Given the description of an element on the screen output the (x, y) to click on. 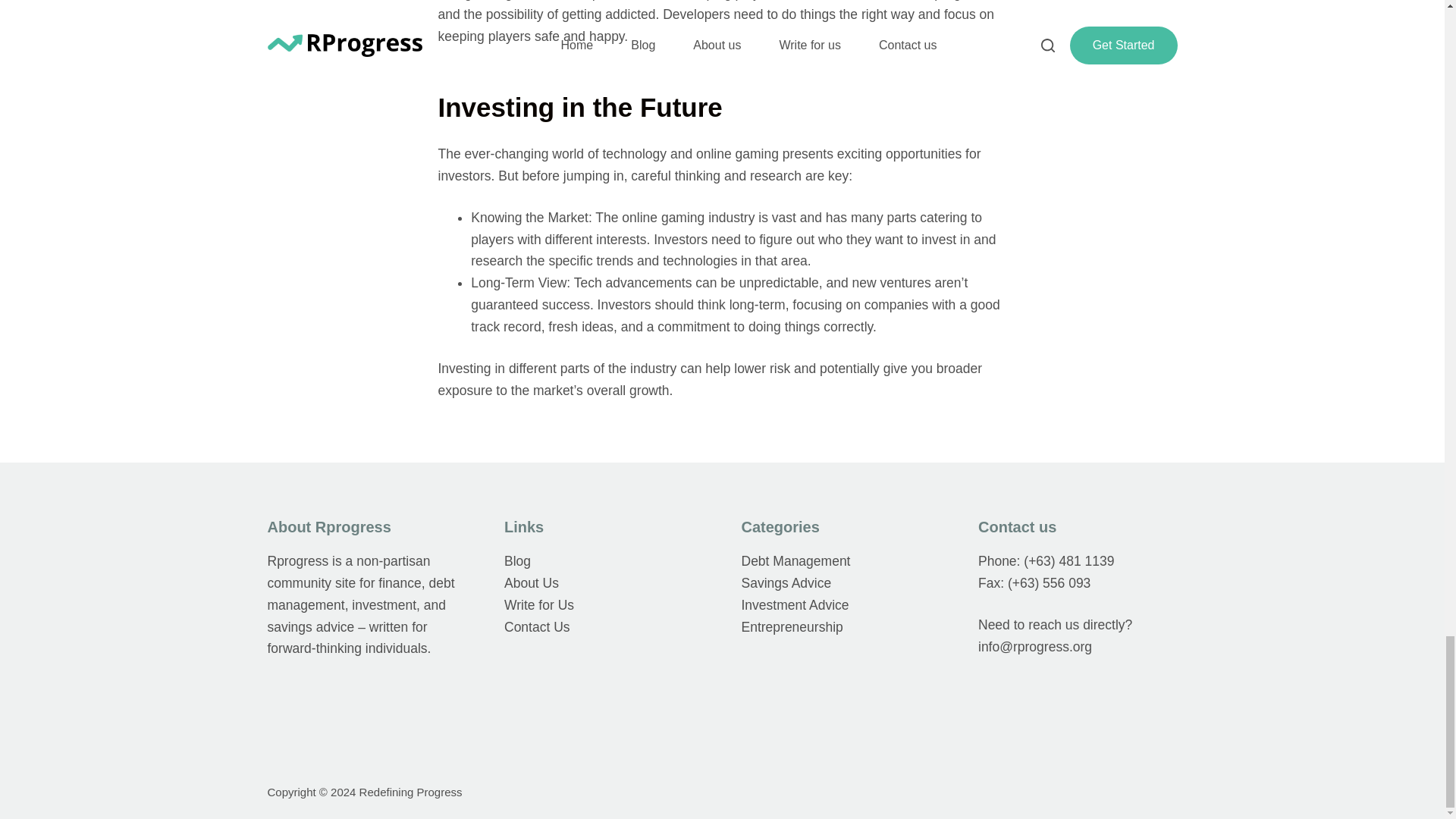
About Us (531, 582)
Savings Advice (786, 582)
Blog (517, 560)
Write for Us (538, 604)
Contact Us (536, 626)
Investment Advice (794, 604)
Debt Management (795, 560)
